Given the description of an element on the screen output the (x, y) to click on. 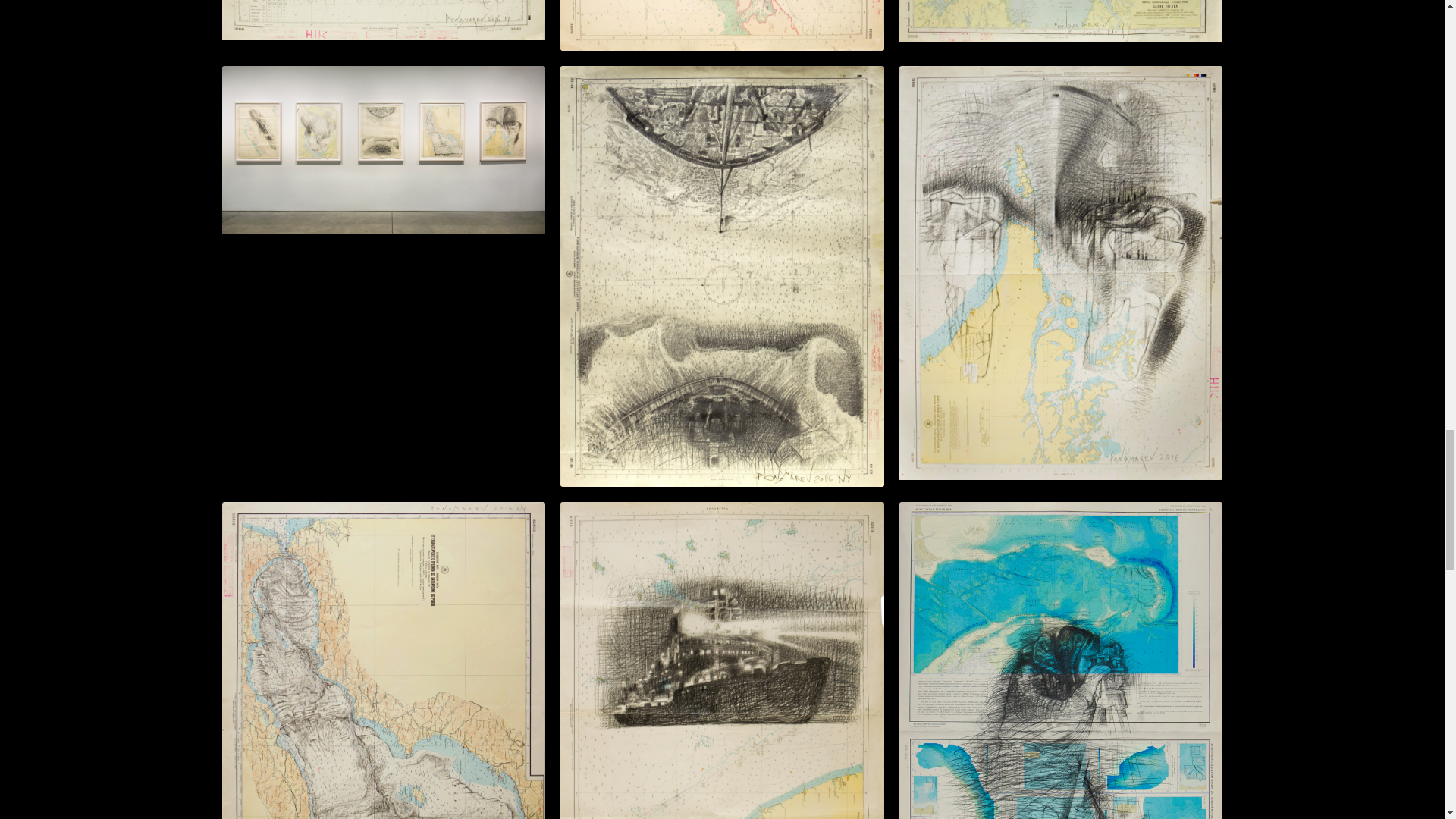
Submarine Off Memory (721, 25)
Glacier (382, 20)
